Given the description of an element on the screen output the (x, y) to click on. 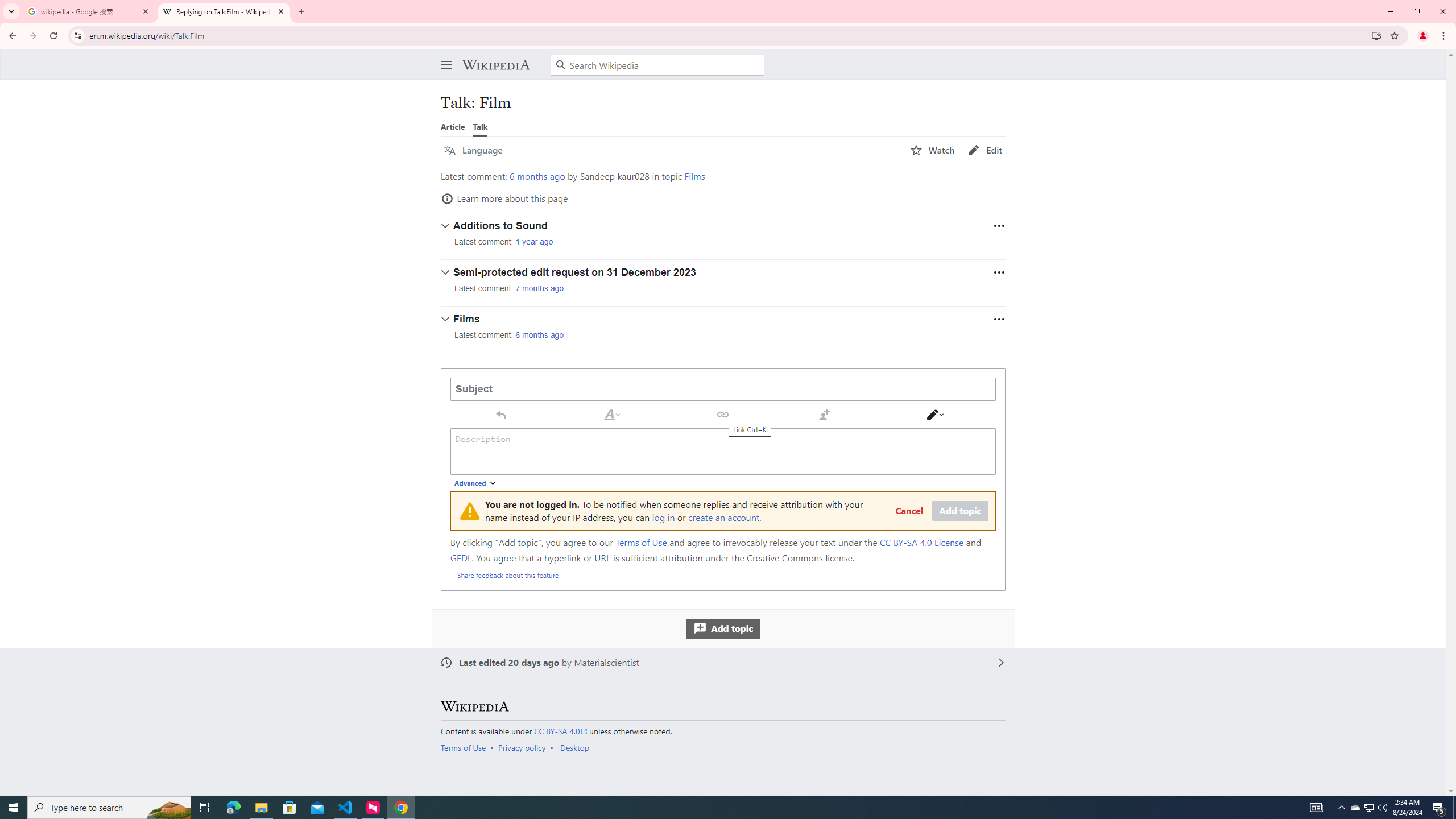
Last edited 20 days ago by Materialscientist (722, 662)
Desktop (574, 747)
Search Wikipedia (657, 64)
CC BY-SA 4.0 (561, 731)
create an account (724, 517)
Terms of Use (462, 747)
Language (472, 149)
Replying on Talk:Film - Wikipedia (224, 11)
AutomationID: footer-info-copyright (720, 731)
log in (663, 517)
